Given the description of an element on the screen output the (x, y) to click on. 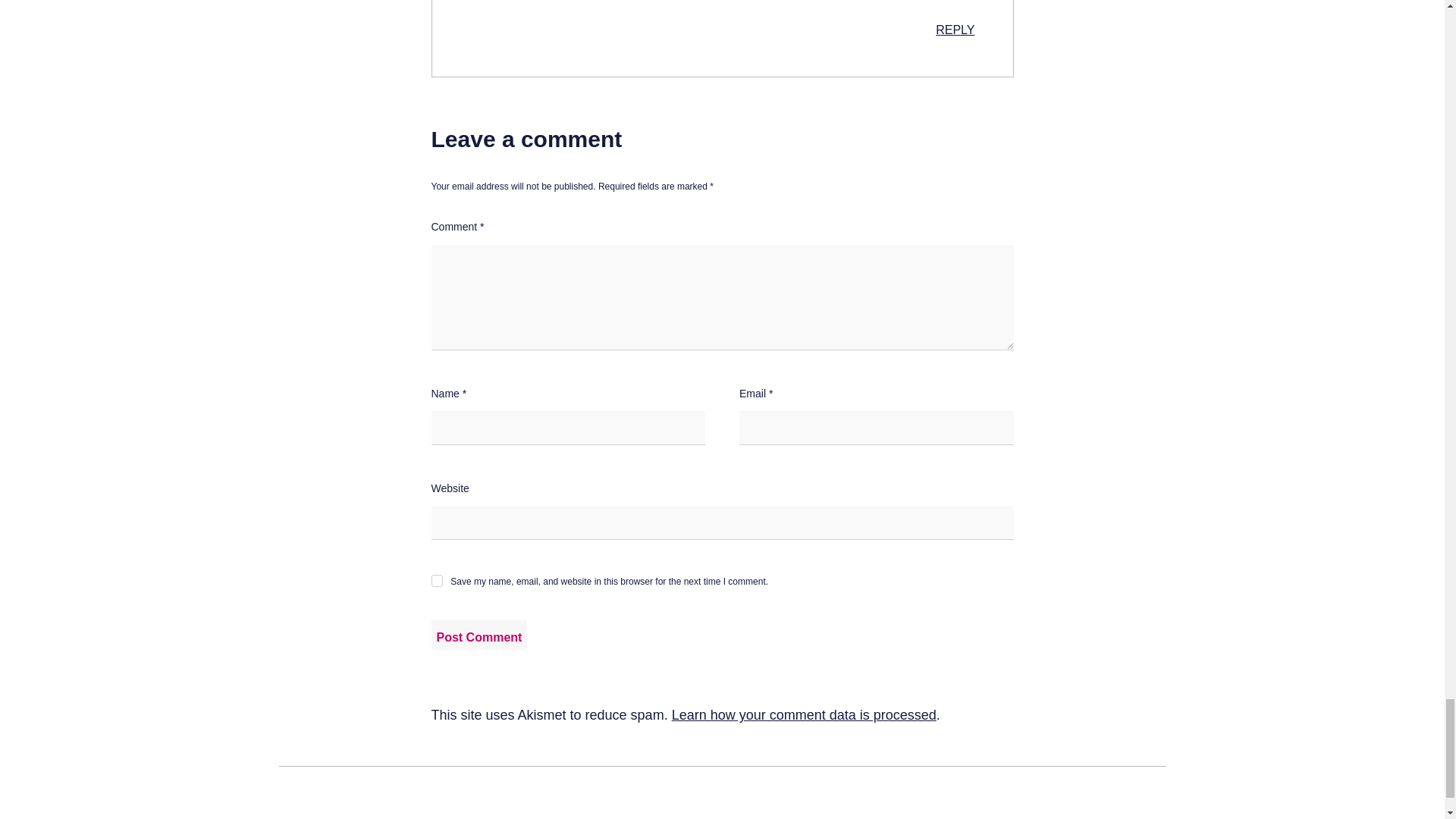
Post Comment (478, 634)
yes (436, 580)
